Given the description of an element on the screen output the (x, y) to click on. 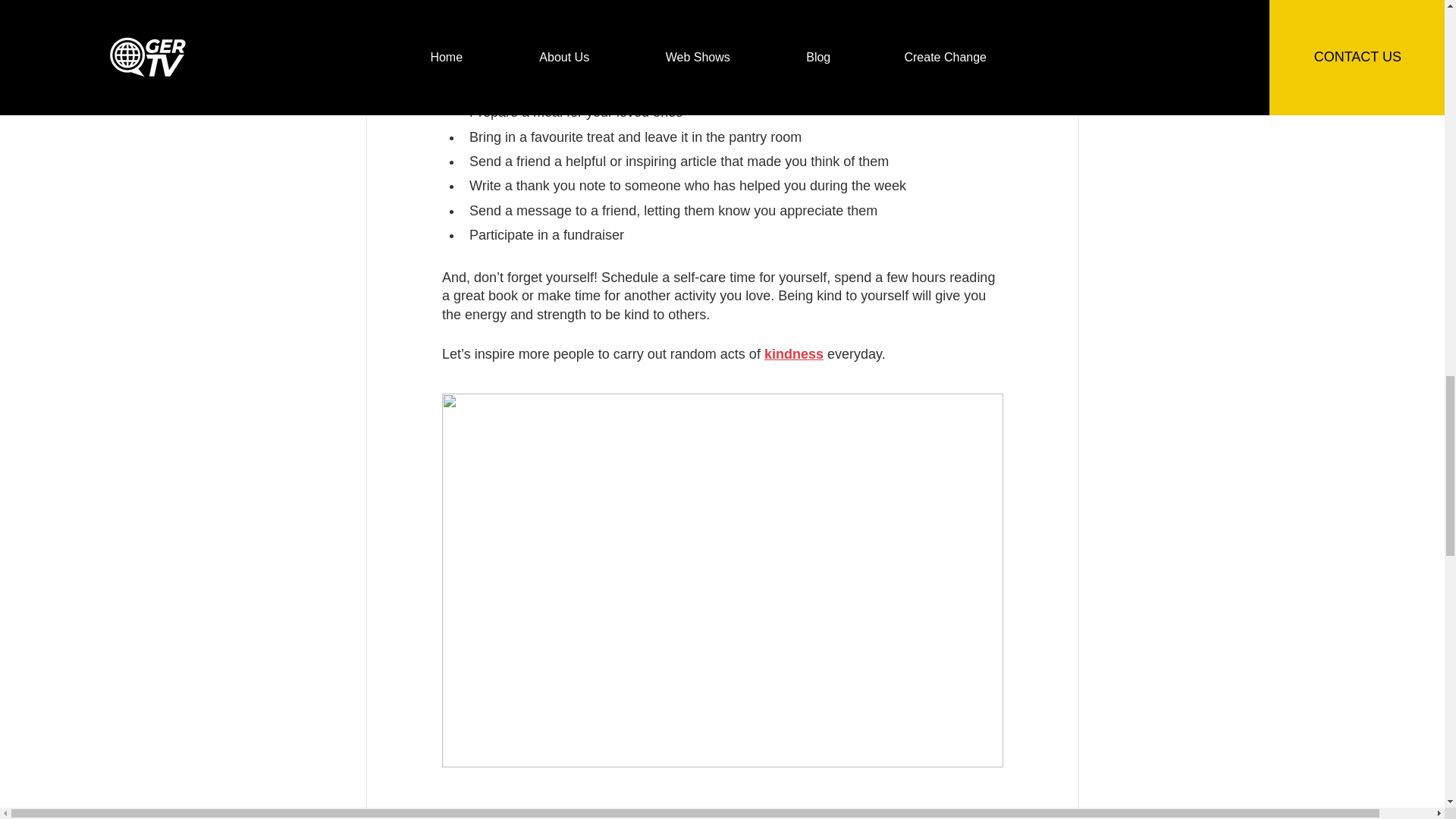
kindness (792, 353)
